Given the description of an element on the screen output the (x, y) to click on. 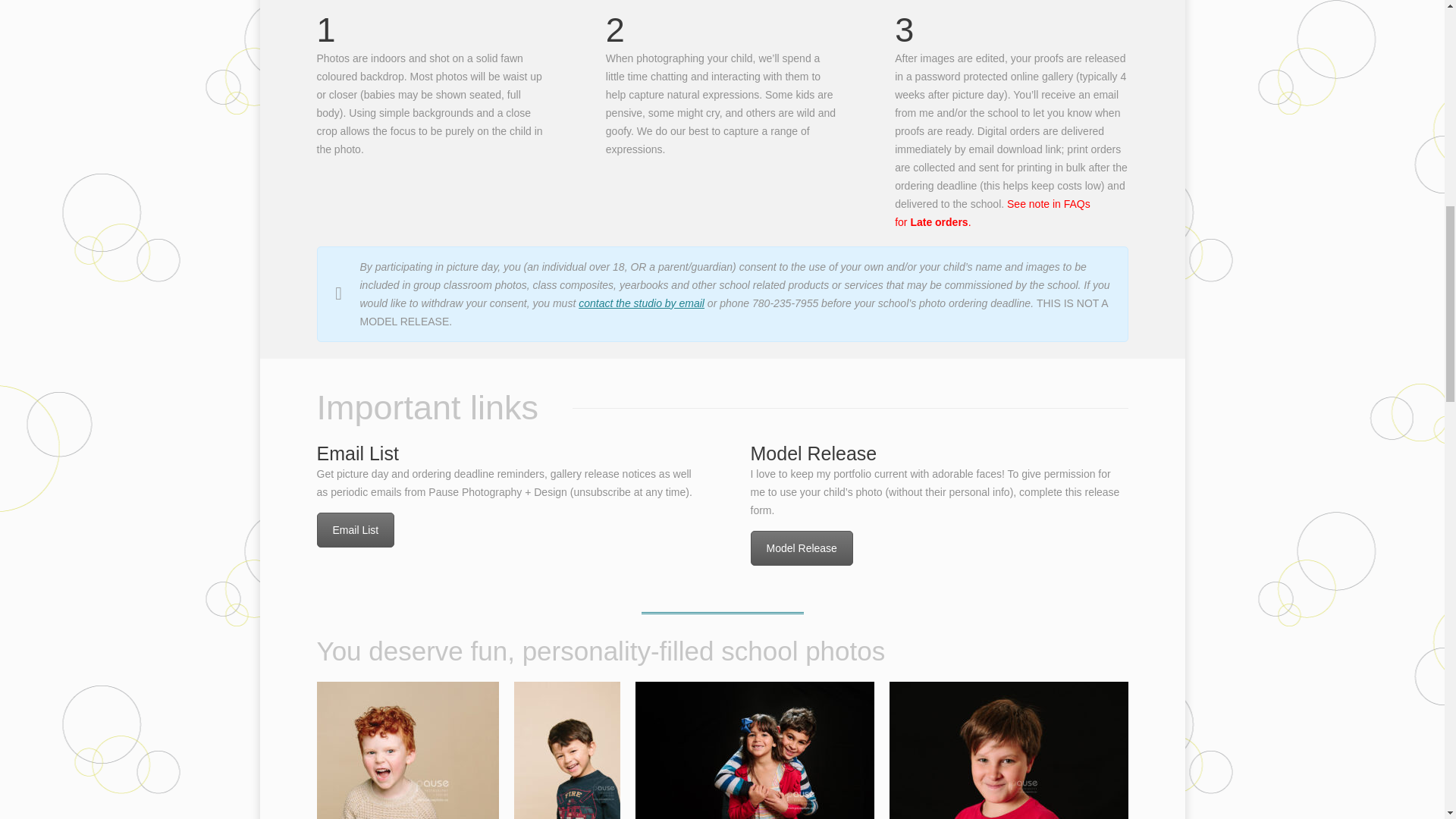
Schools Email List Signup Form (355, 529)
Model Release (802, 547)
